Given the description of an element on the screen output the (x, y) to click on. 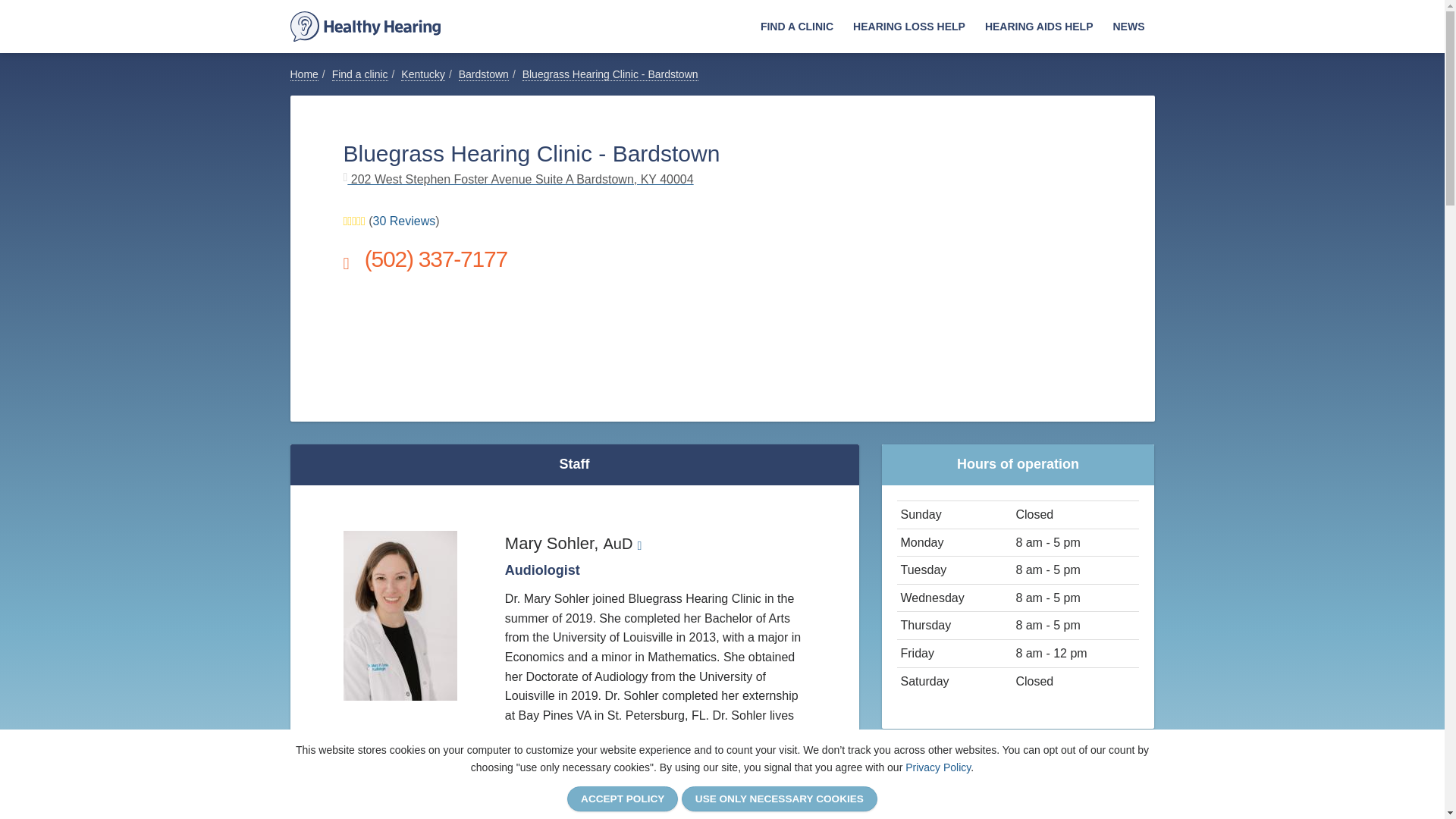
NEWS (1128, 26)
FIND A CLINIC (797, 26)
HEARING LOSS HELP (909, 26)
HEARING AIDS HELP (1039, 26)
